Given the description of an element on the screen output the (x, y) to click on. 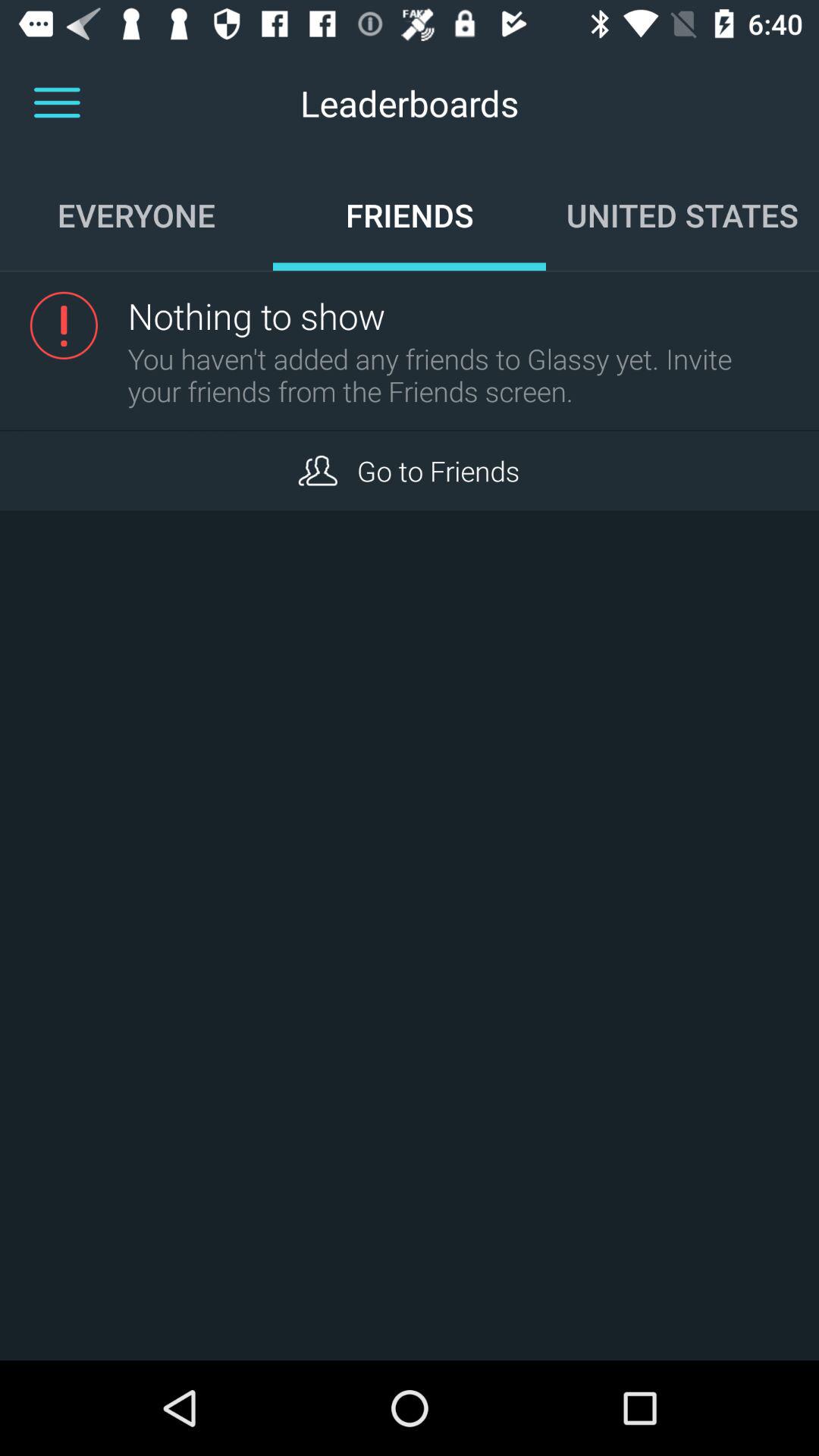
menu (57, 103)
